Given the description of an element on the screen output the (x, y) to click on. 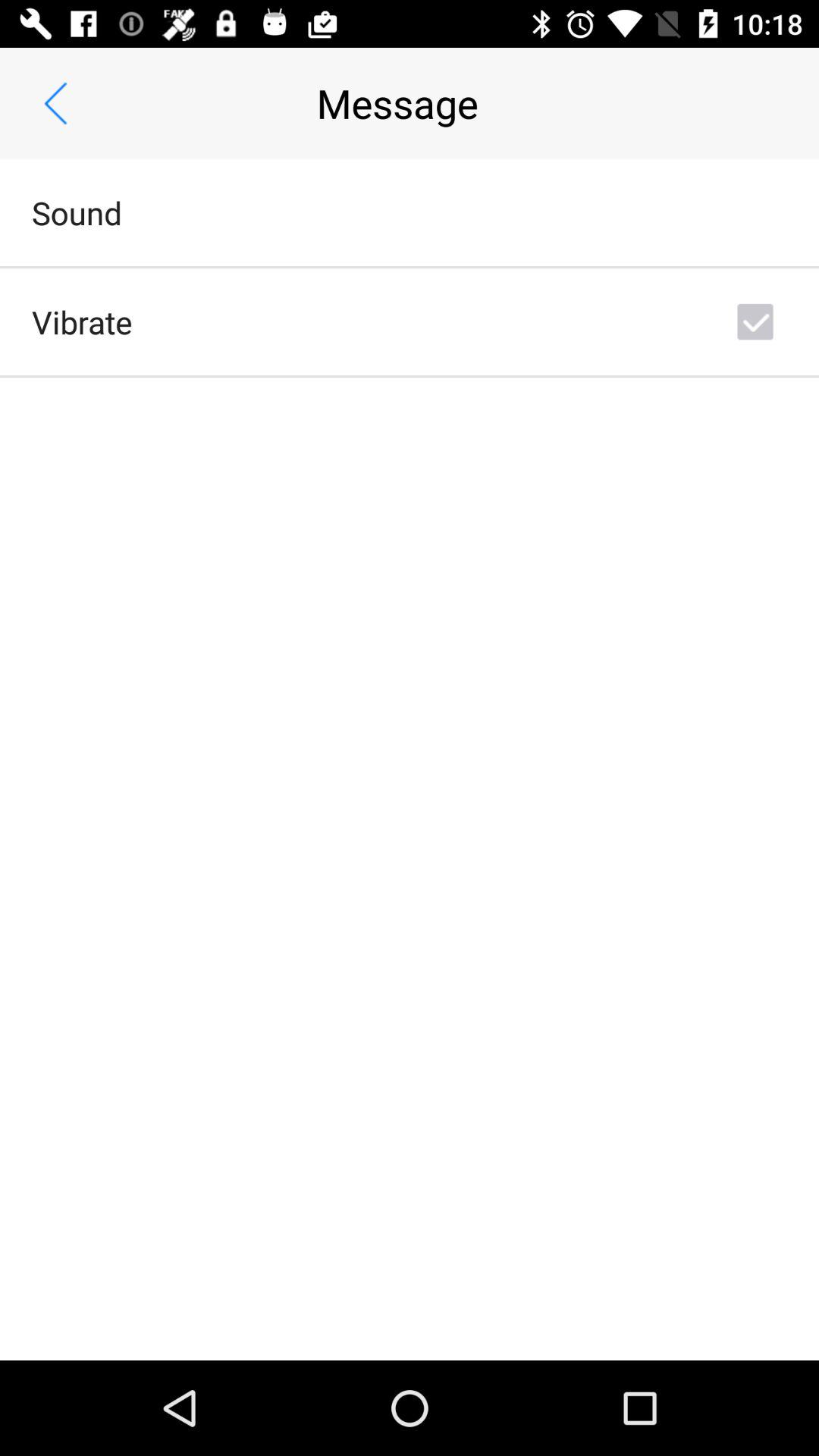
launch the icon next to vibrate icon (755, 321)
